Given the description of an element on the screen output the (x, y) to click on. 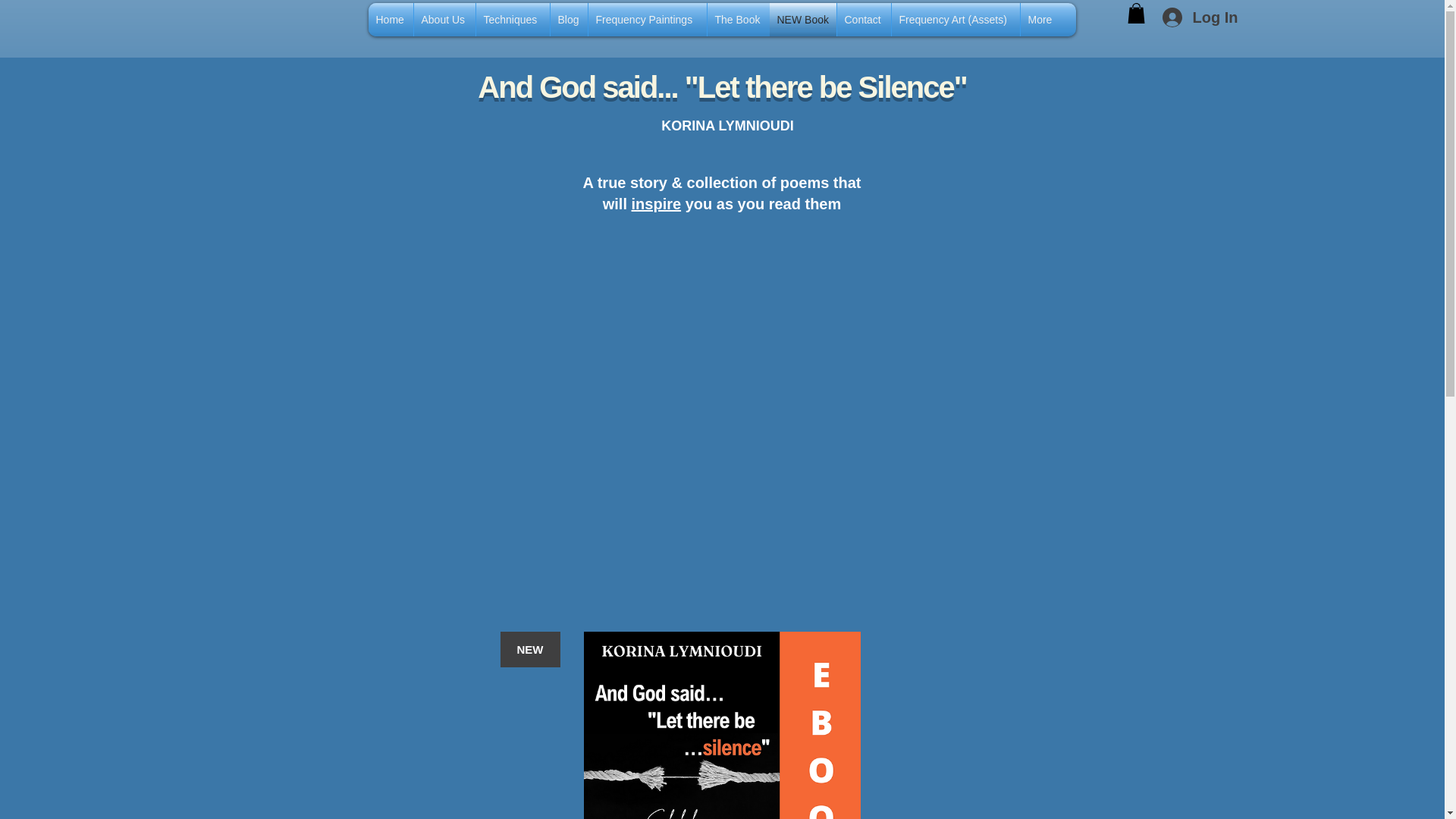
The Book (737, 19)
Techniques (513, 19)
Blog (569, 19)
Contact (864, 19)
NEW Book (801, 19)
Home (390, 19)
Log In (1196, 16)
Frequency Paintings (647, 19)
